Given the description of an element on the screen output the (x, y) to click on. 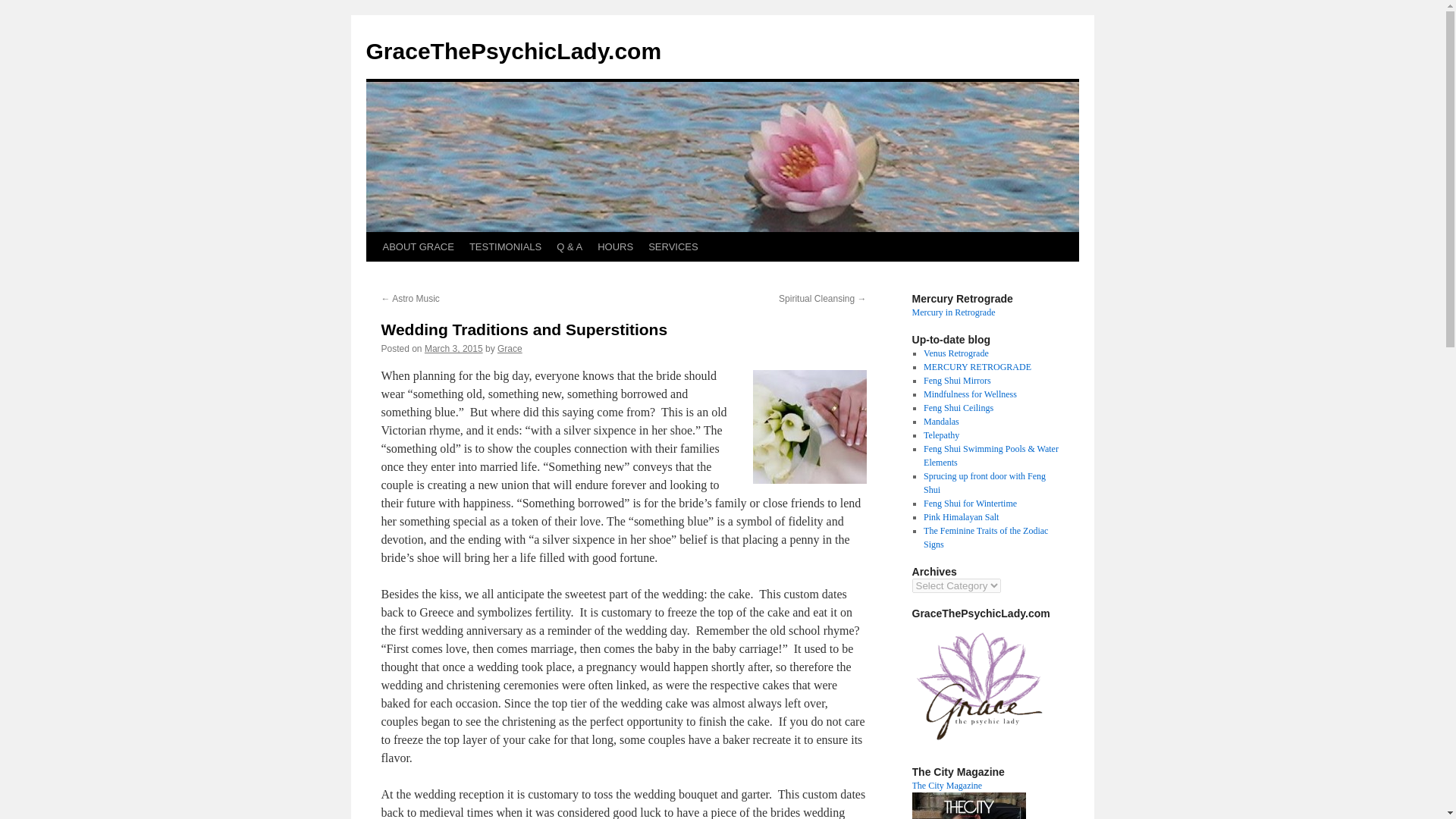
Mindfulness for Wellness (969, 394)
Feng Shui for Wintertime (969, 502)
Grace (509, 348)
ABOUT GRACE (417, 246)
GraceThePsychicLady.com (513, 50)
View all posts by Grace (509, 348)
The City Magazine (946, 785)
SERVICES (673, 246)
5:46 pm (454, 348)
HOURS (614, 246)
Feng Shui Mirrors (957, 380)
The Feminine Traits of the Zodiac Signs (985, 537)
Sprucing up front door with Feng Shui (984, 482)
TESTIMONIALS (504, 246)
Venus Retrograde (955, 353)
